Given the description of an element on the screen output the (x, y) to click on. 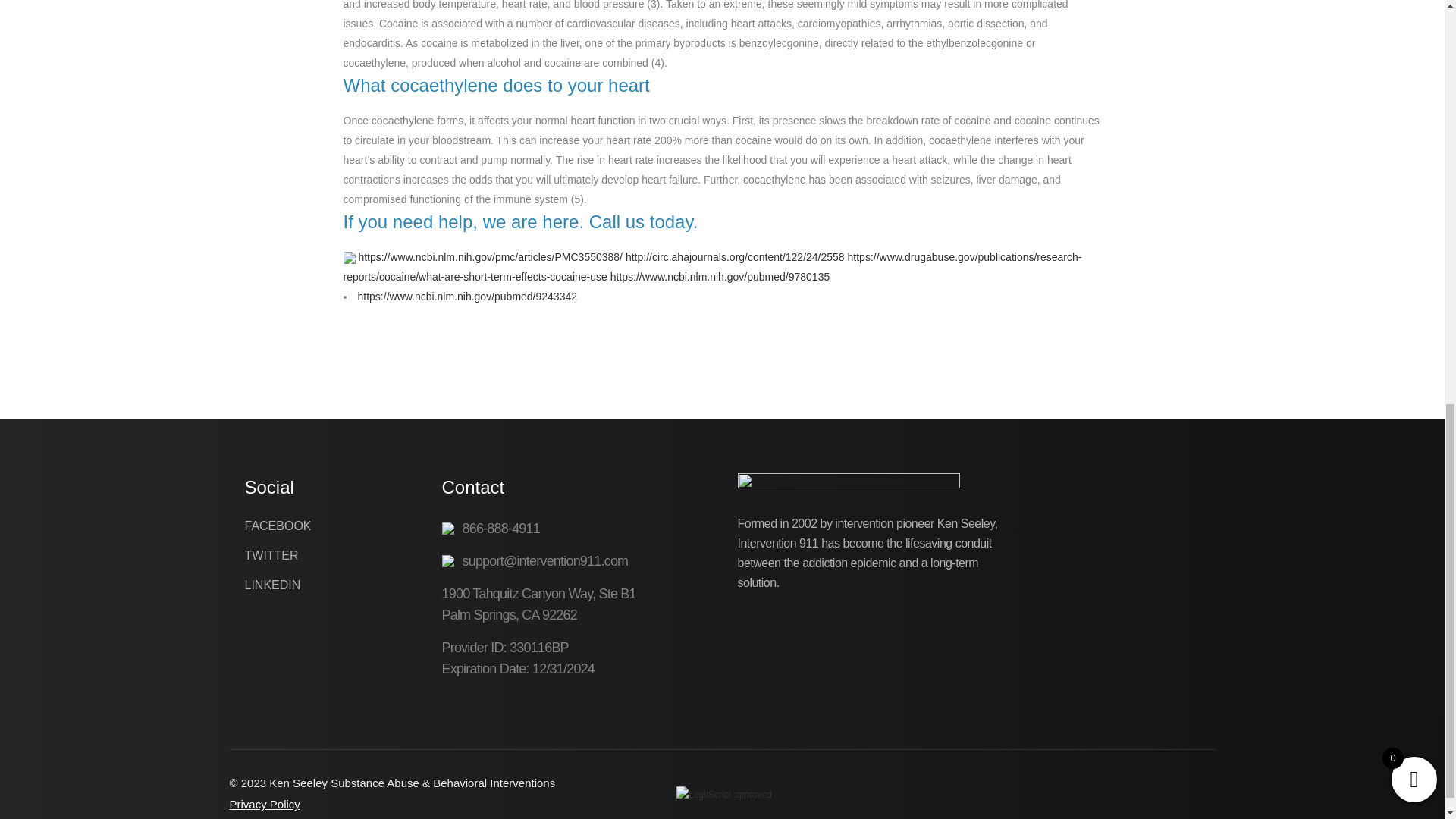
Verify LegitScript Approval (724, 793)
